Given the description of an element on the screen output the (x, y) to click on. 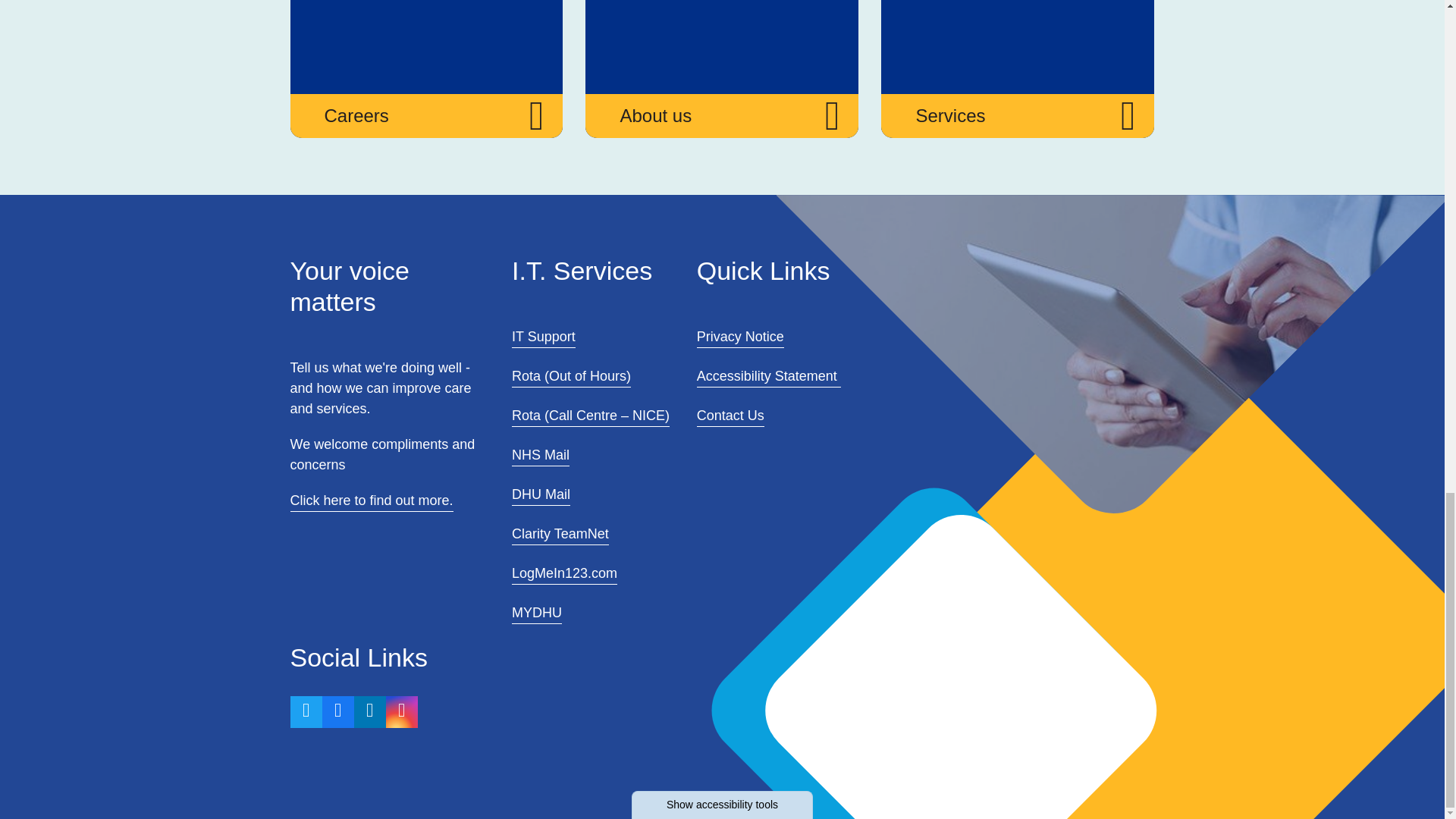
Careers (425, 69)
LinkedIn (369, 712)
Facebook (337, 710)
Twitter (305, 712)
Twitter (305, 710)
Facebook (337, 712)
Services (1017, 69)
About us (722, 69)
